Given the description of an element on the screen output the (x, y) to click on. 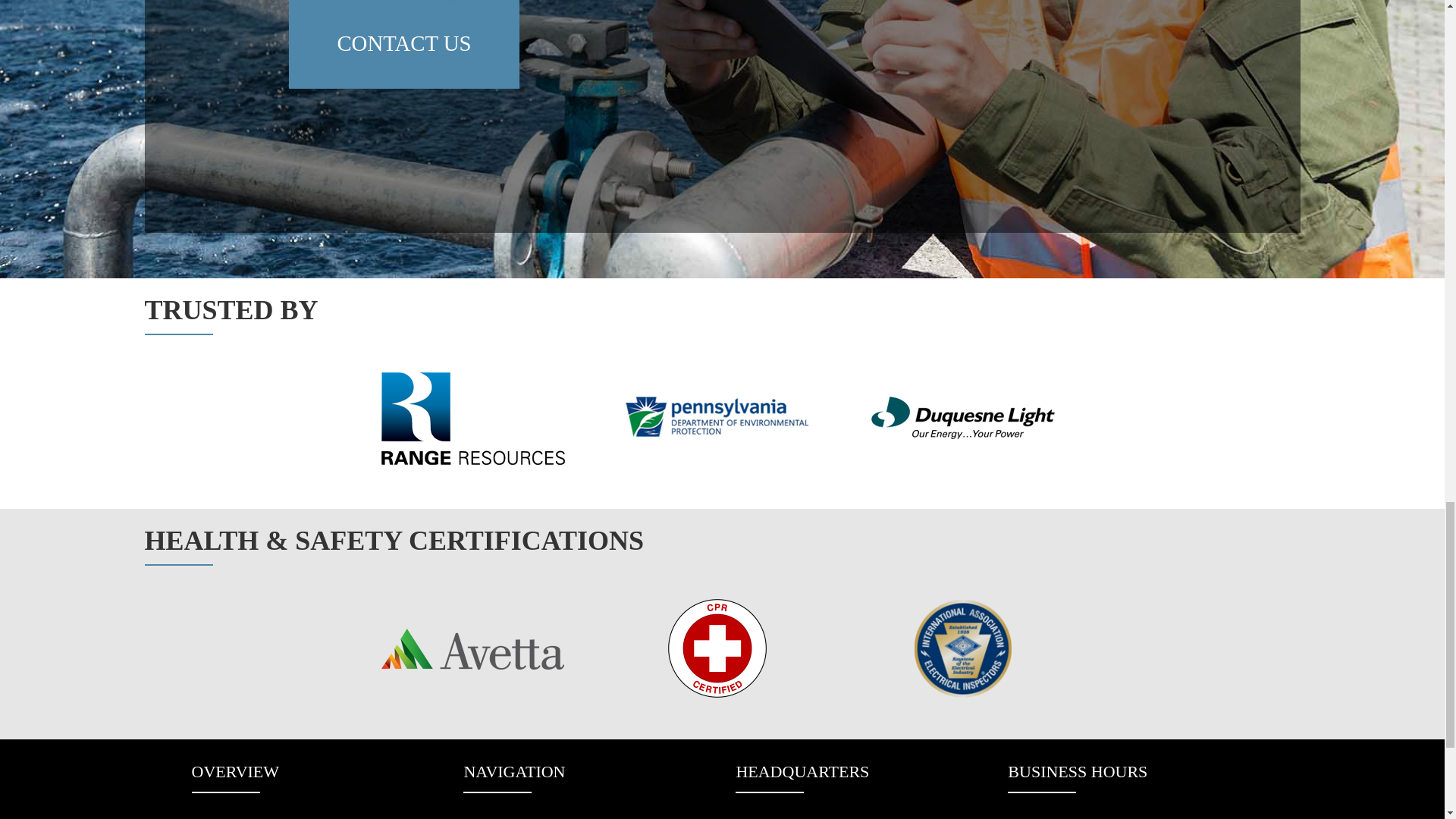
trustedby-rangeresources (471, 417)
health-avetta (471, 648)
trustedby-padep (717, 417)
health-iaei (961, 648)
trustedby-duquesnelight (961, 417)
ABOUT AMD (529, 816)
CONTACT US (403, 44)
health-cpr (717, 648)
